Given the description of an element on the screen output the (x, y) to click on. 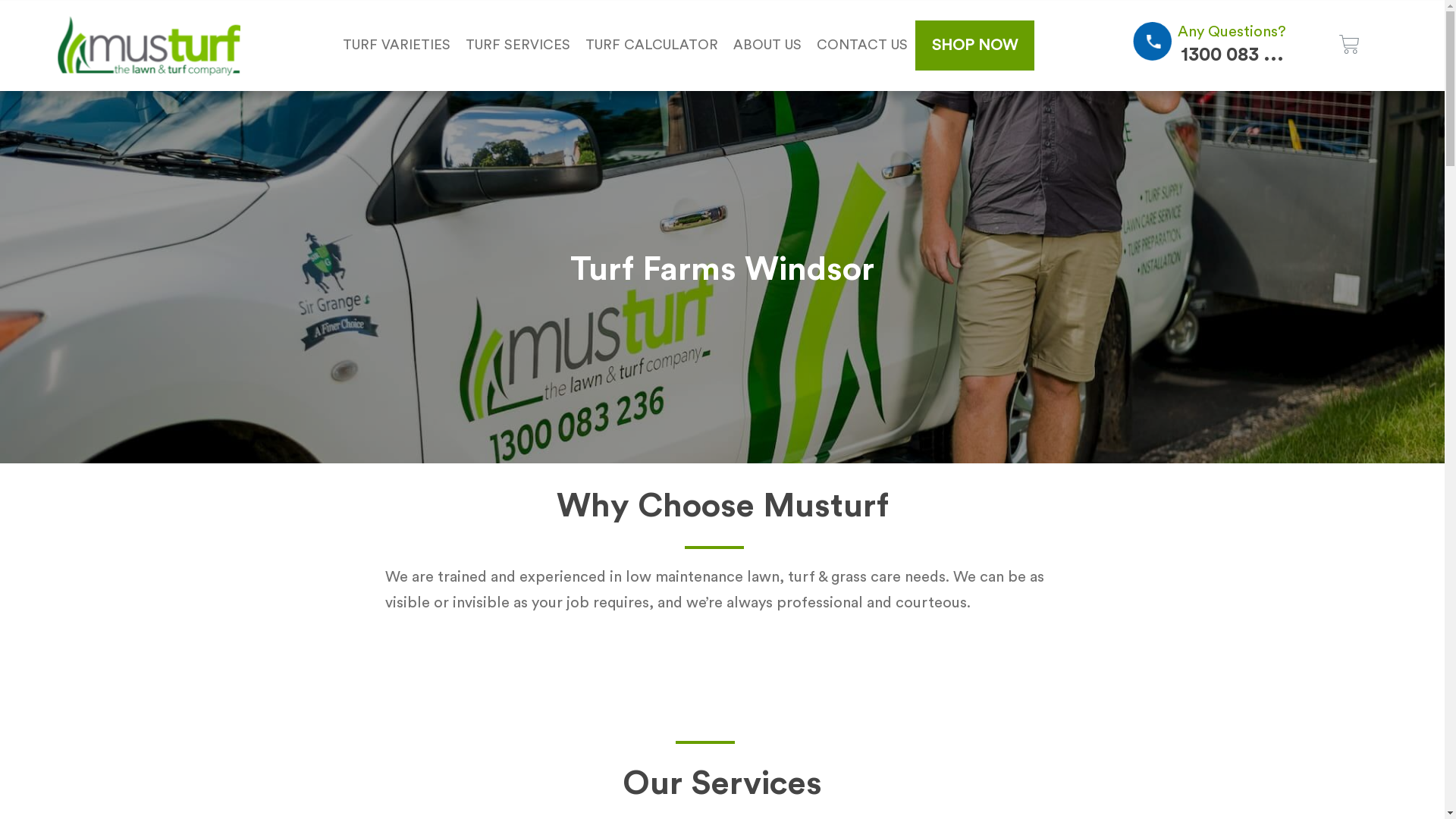
TURF VARIETIES Element type: text (396, 45)
1300 083 ... Element type: text (1231, 54)
Any Questions? Element type: text (1231, 31)
TURF SERVICES Element type: text (517, 45)
TURF CALCULATOR Element type: text (651, 45)
ABOUT US Element type: text (767, 45)
CONTACT US Element type: text (861, 45)
SHOP NOW Element type: text (974, 45)
